Given the description of an element on the screen output the (x, y) to click on. 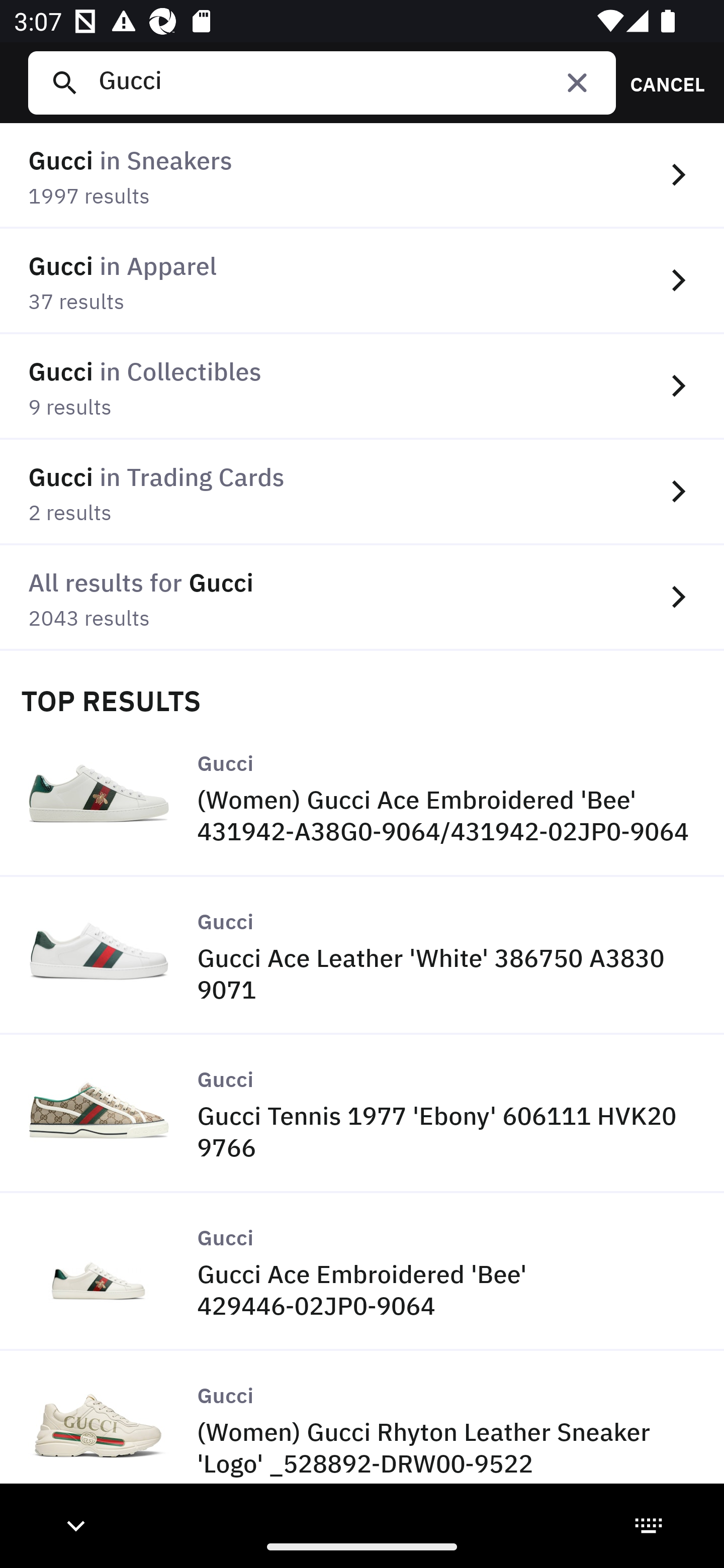
CANCEL (660, 82)
Gucci (349, 82)
 (577, 82)
Gucci  in Sneakers 1997 results  (362, 175)
Gucci  in Apparel 37 results  (362, 280)
Gucci  in Collectibles 9 results  (362, 386)
Gucci  in Trading Cards 2 results  (362, 492)
All results for  Gucci 2043 results  (362, 597)
Gucci Gucci Ace Leather 'White' 386750 A3830 9071 (362, 955)
Gucci Gucci Tennis 1977 'Ebony' 606111 HVK20 9766 (362, 1113)
